Given the description of an element on the screen output the (x, y) to click on. 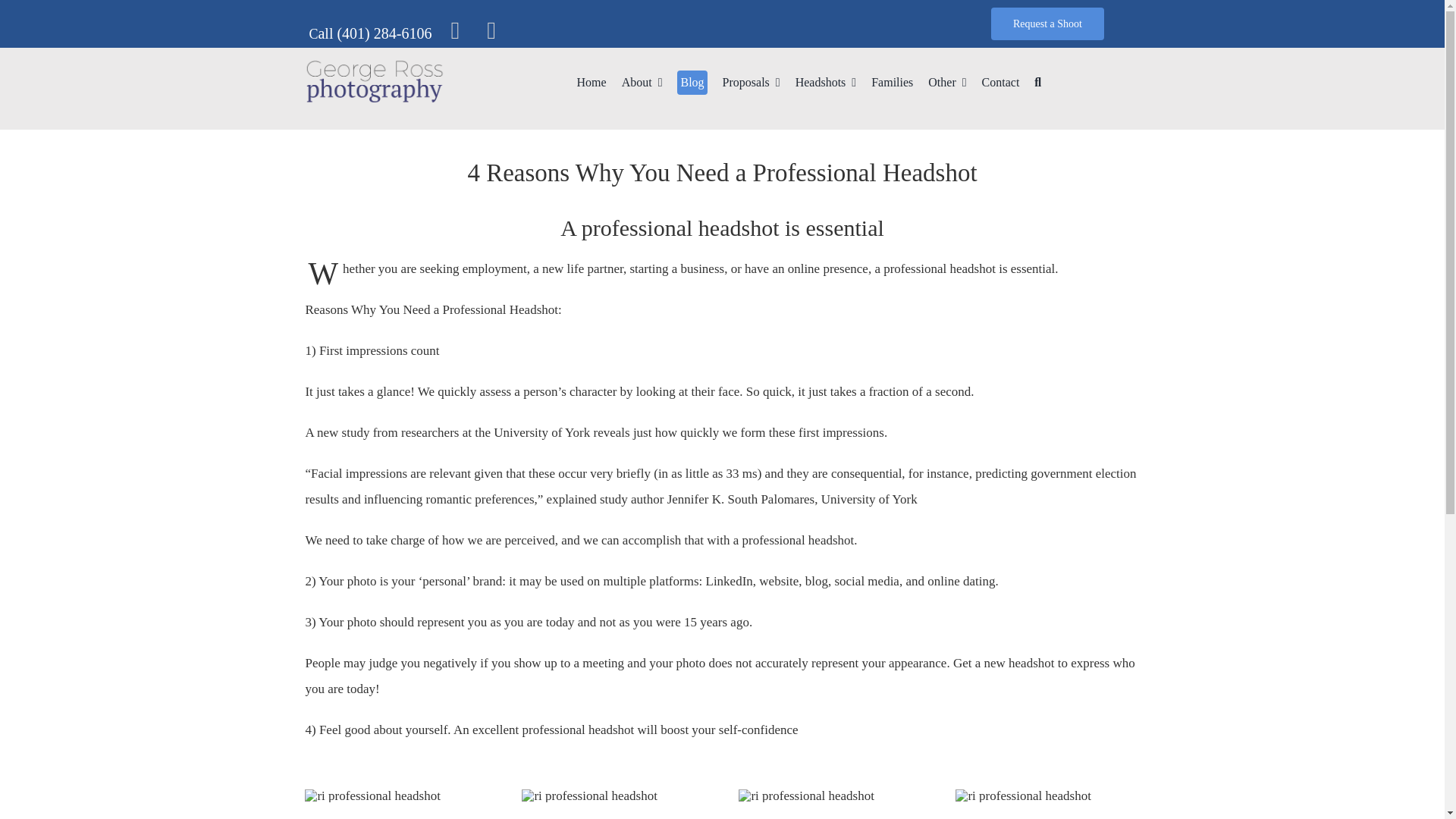
Proposals (751, 82)
ri professional headshot-2 (588, 795)
Blog (691, 82)
ri professional headshot of a woman wearing glasses (371, 795)
ri professional headshot-4 (1022, 795)
ri professional headshot of a woman in a blue jacket (805, 795)
About (641, 82)
Request a Shoot (1047, 23)
Home (591, 82)
